Given the description of an element on the screen output the (x, y) to click on. 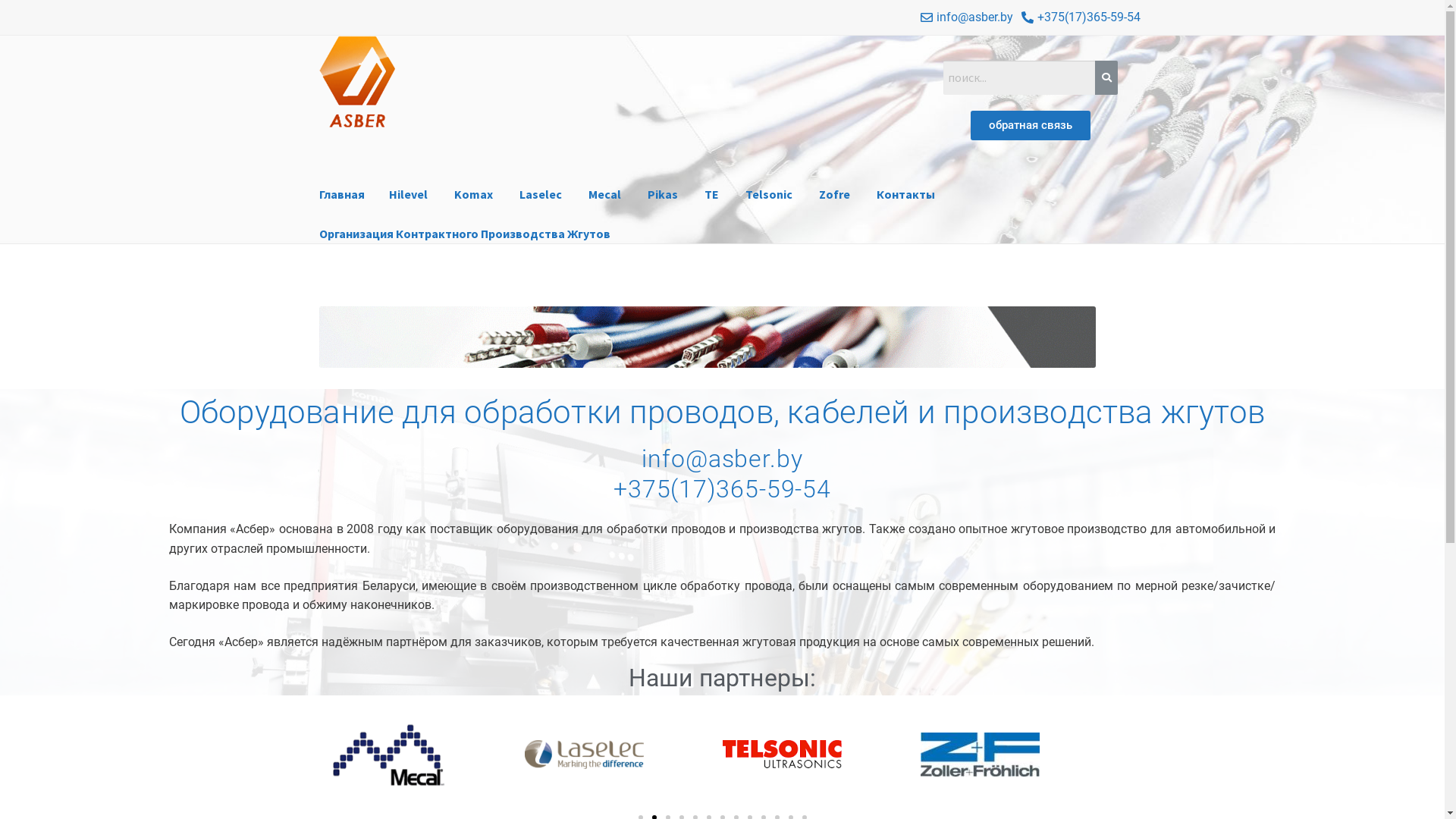
TE Element type: text (711, 194)
Telsonic Element type: text (768, 194)
info@asber.by Element type: text (722, 458)
Zofre Element type: text (834, 194)
Komax Element type: text (473, 194)
Laselec Element type: text (540, 194)
Search Element type: hover (1019, 77)
+375(17)365-59-54 Element type: text (722, 488)
Mecal Element type: text (604, 194)
Pikas Element type: text (662, 194)
Hilevel Element type: text (407, 194)
